Given the description of an element on the screen output the (x, y) to click on. 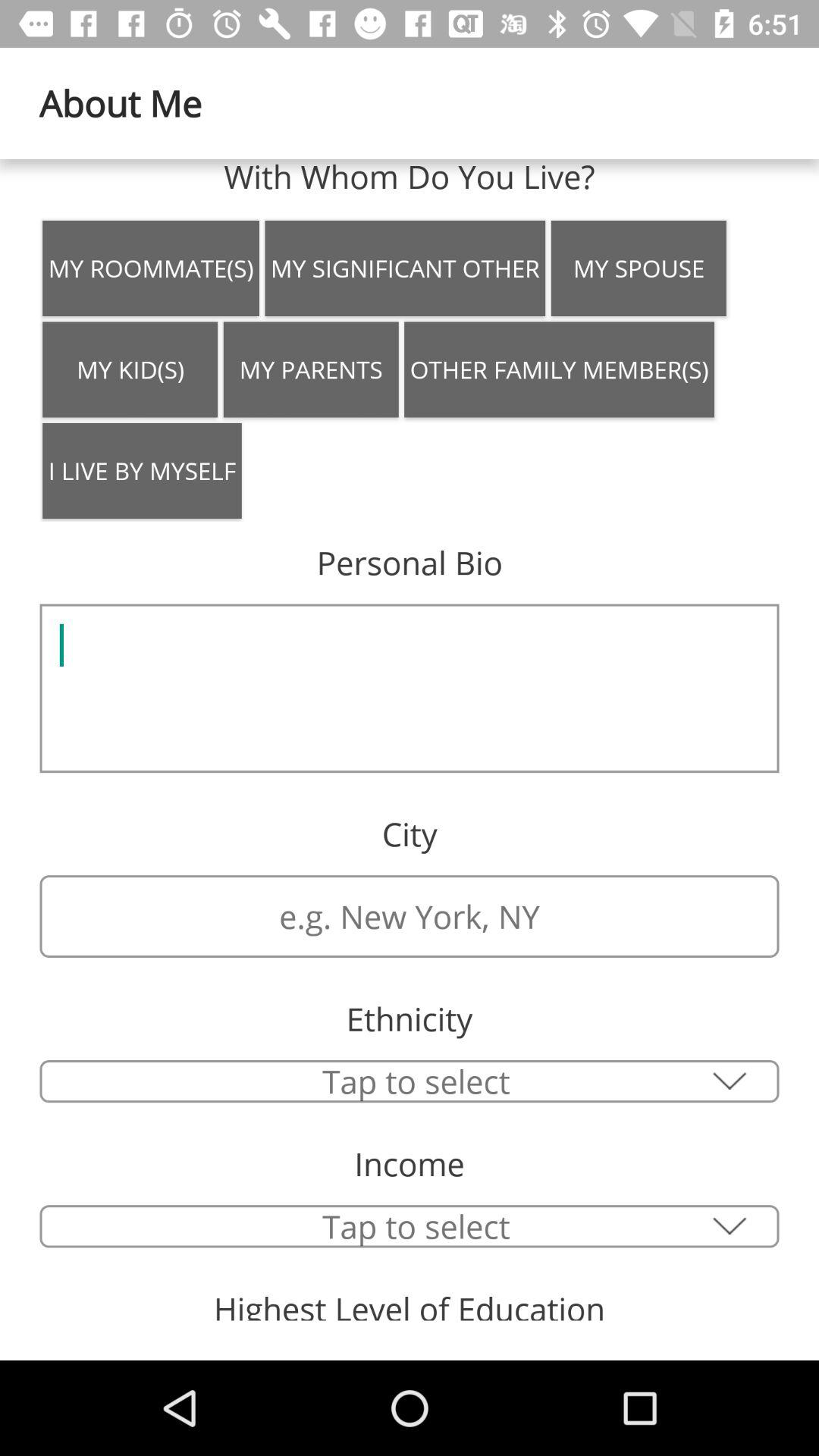
press other family member item (559, 369)
